Given the description of an element on the screen output the (x, y) to click on. 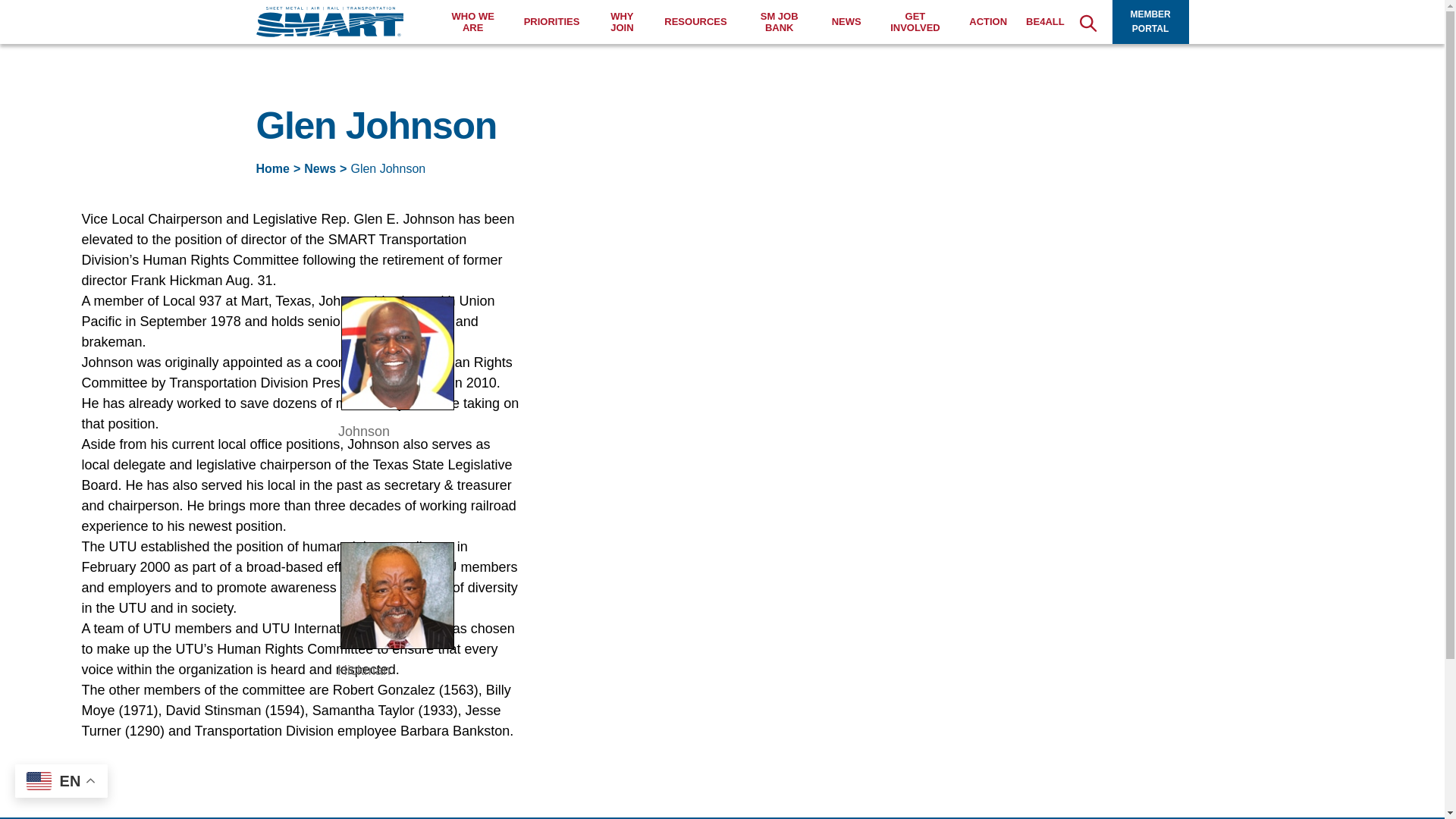
WHO WE ARE (473, 22)
PRIORITIES (551, 21)
Go to News. (320, 168)
Go to SMART Union. (272, 168)
WHY JOIN (621, 22)
